Given the description of an element on the screen output the (x, y) to click on. 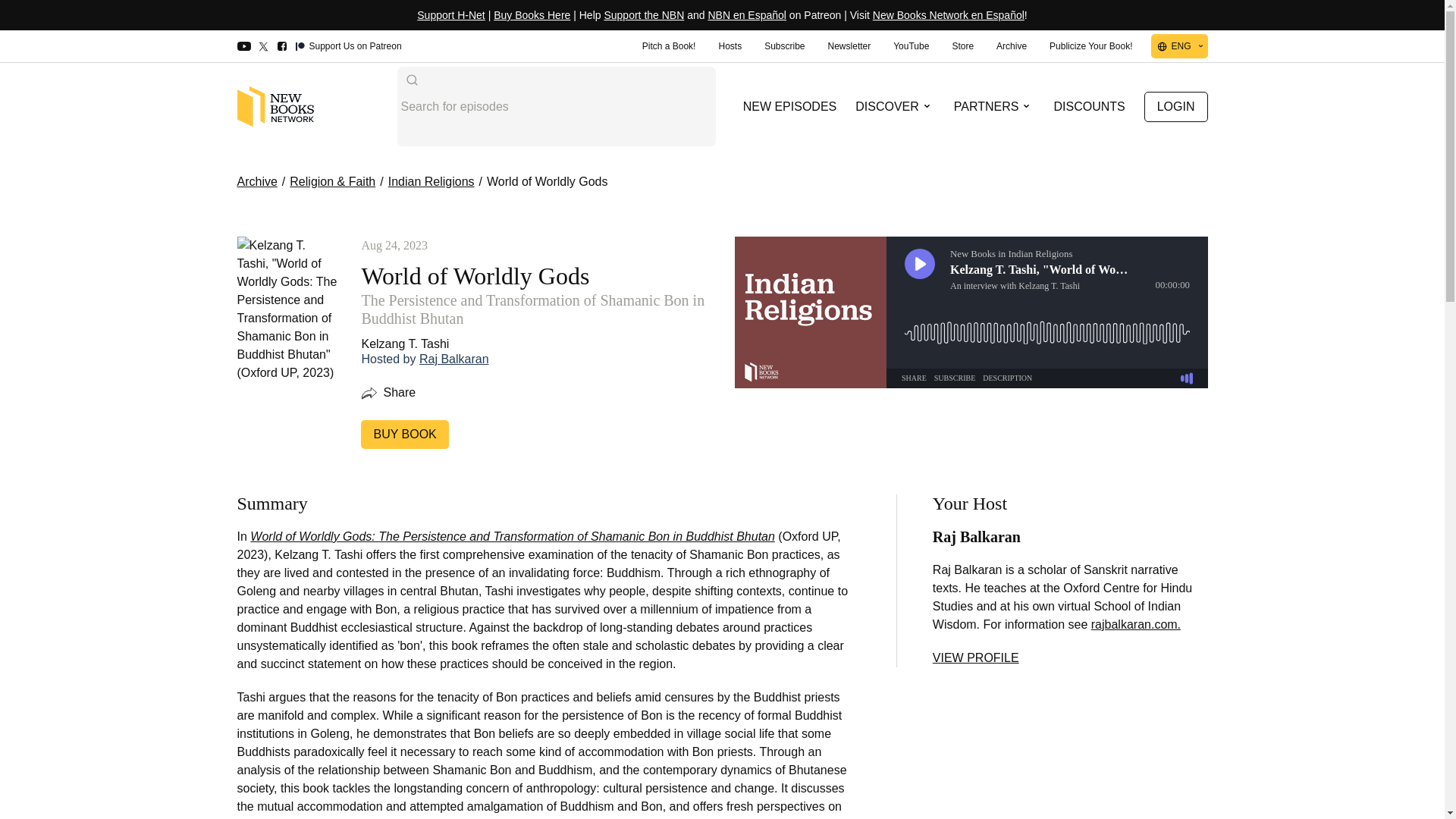
Subscribe (784, 46)
Archive (1011, 46)
Pitch a Book! (669, 46)
Buy Books Here (531, 15)
Support Us on Patreon (348, 46)
Store (961, 46)
Support the NBN (644, 15)
Submit (411, 79)
Newsletter (849, 46)
Publicize Your Book! (1090, 46)
Support H-Net (450, 15)
YouTube (911, 46)
Hosts (729, 46)
